Given the description of an element on the screen output the (x, y) to click on. 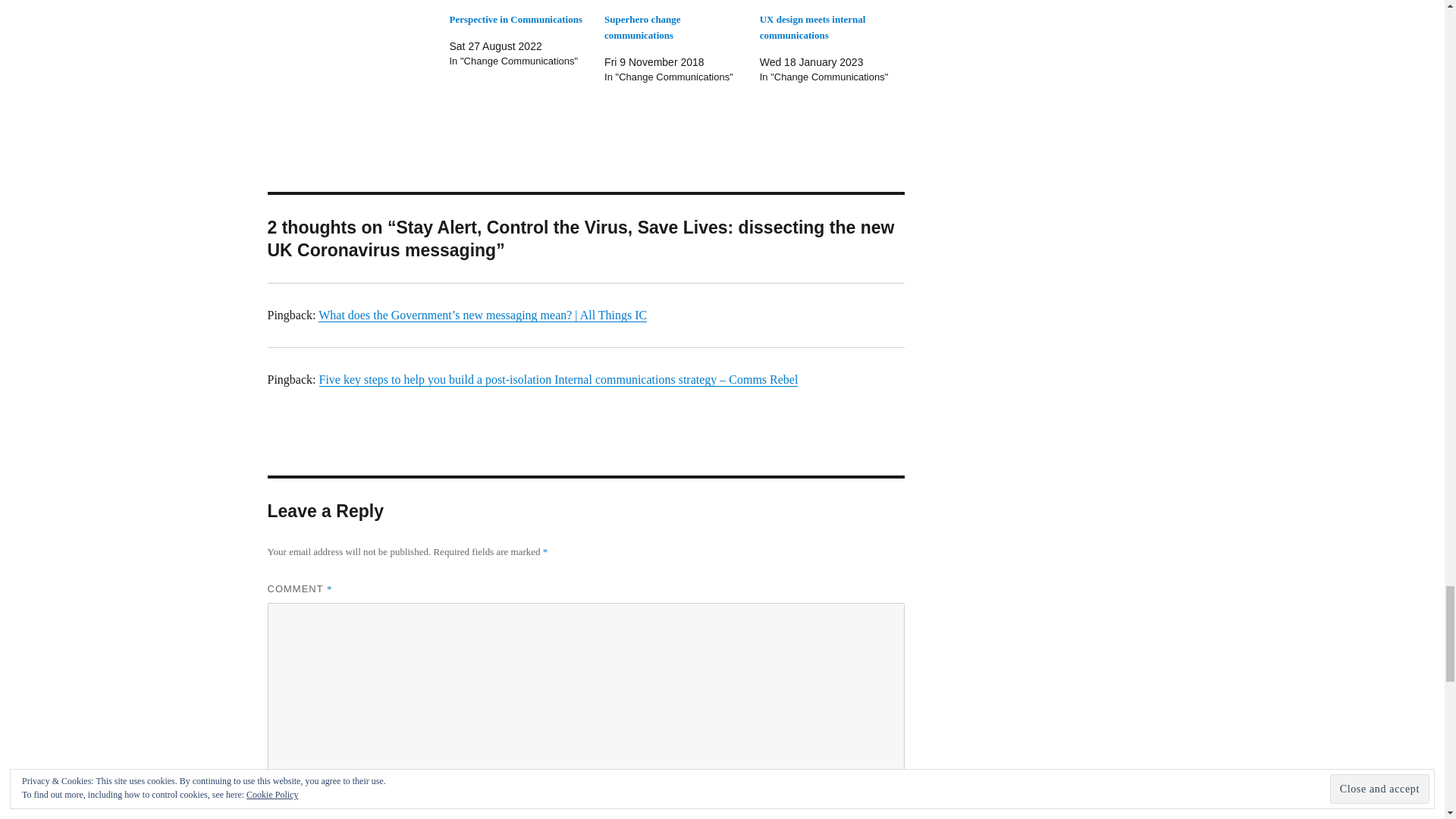
UX design meets internal communications (813, 26)
UX design meets internal communications (832, 0)
Perspective in Communications (521, 0)
Perspective in Communications (514, 19)
Superhero change communications (642, 26)
Superhero change communications (642, 26)
UX design meets internal communications (813, 26)
Perspective in Communications (514, 19)
